Given the description of an element on the screen output the (x, y) to click on. 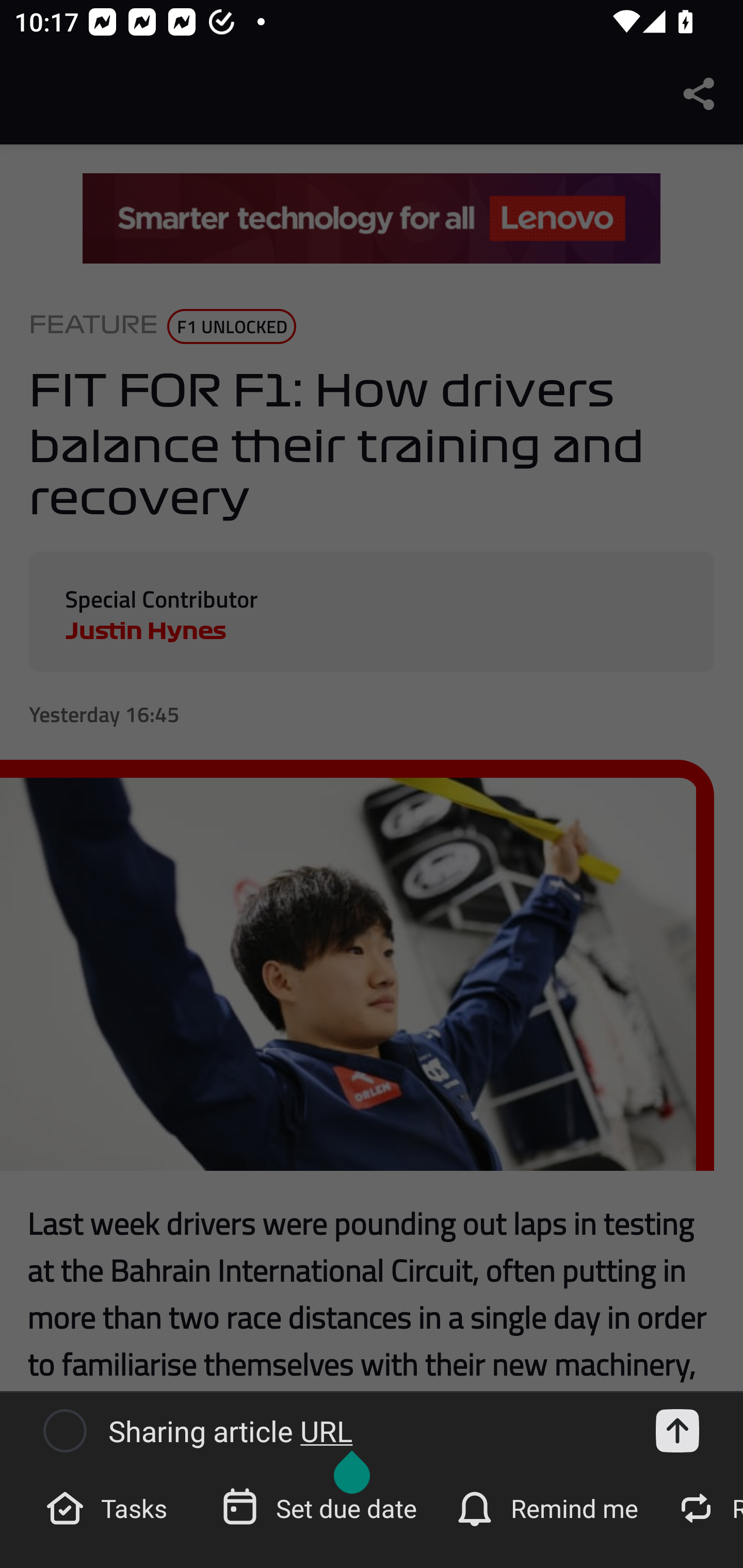
Add a task (676, 1430)
Sharing article URL (366, 1430)
Tasks (108, 1507)
Set due date (321, 1507)
Remind me (548, 1507)
Repeat (705, 1507)
